Given the description of an element on the screen output the (x, y) to click on. 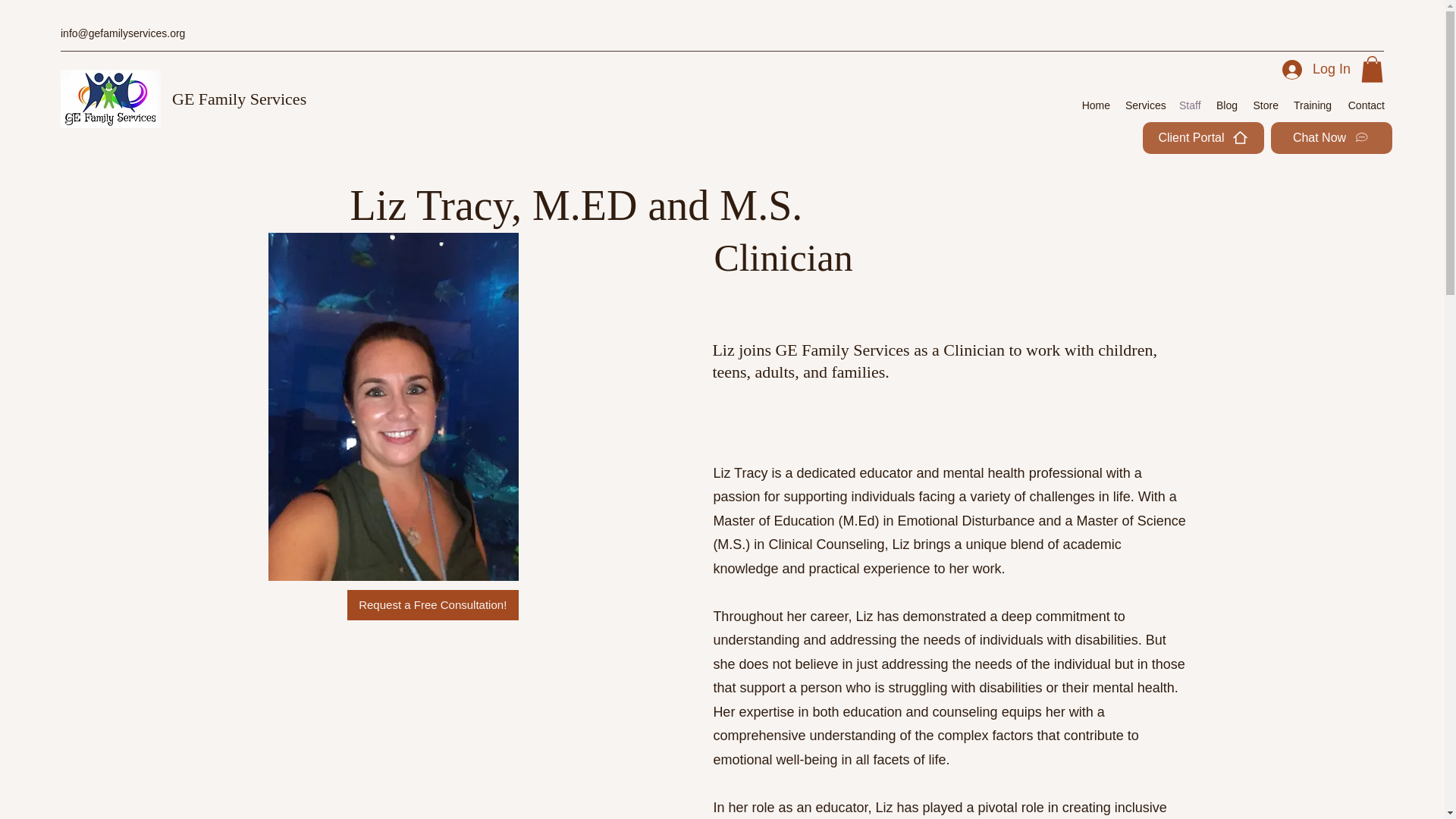
GE Family Services (238, 98)
Training (1312, 105)
Staff (1190, 105)
Services (1145, 105)
Store (1264, 105)
Home (1096, 105)
Log In (1316, 69)
Blog (1226, 105)
